Given the description of an element on the screen output the (x, y) to click on. 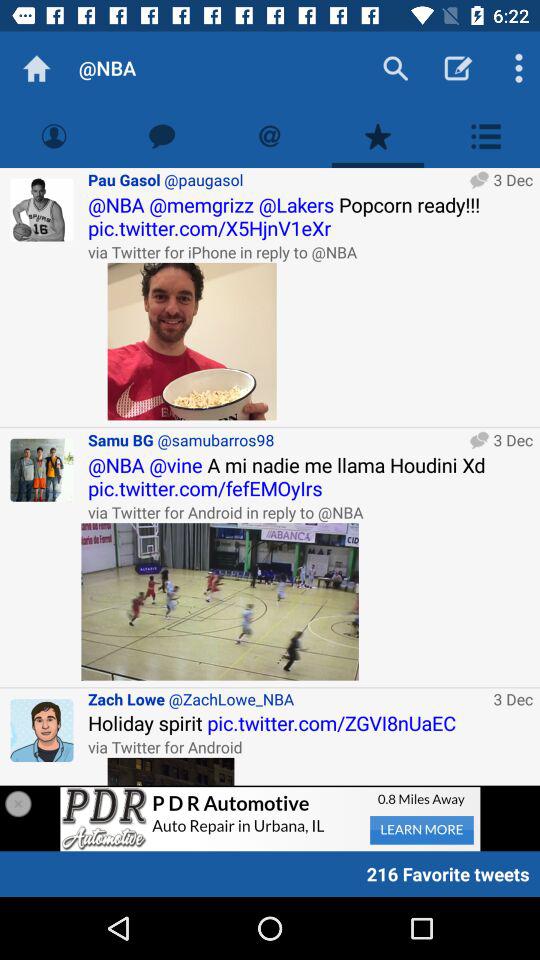
view profile (41, 730)
